Given the description of an element on the screen output the (x, y) to click on. 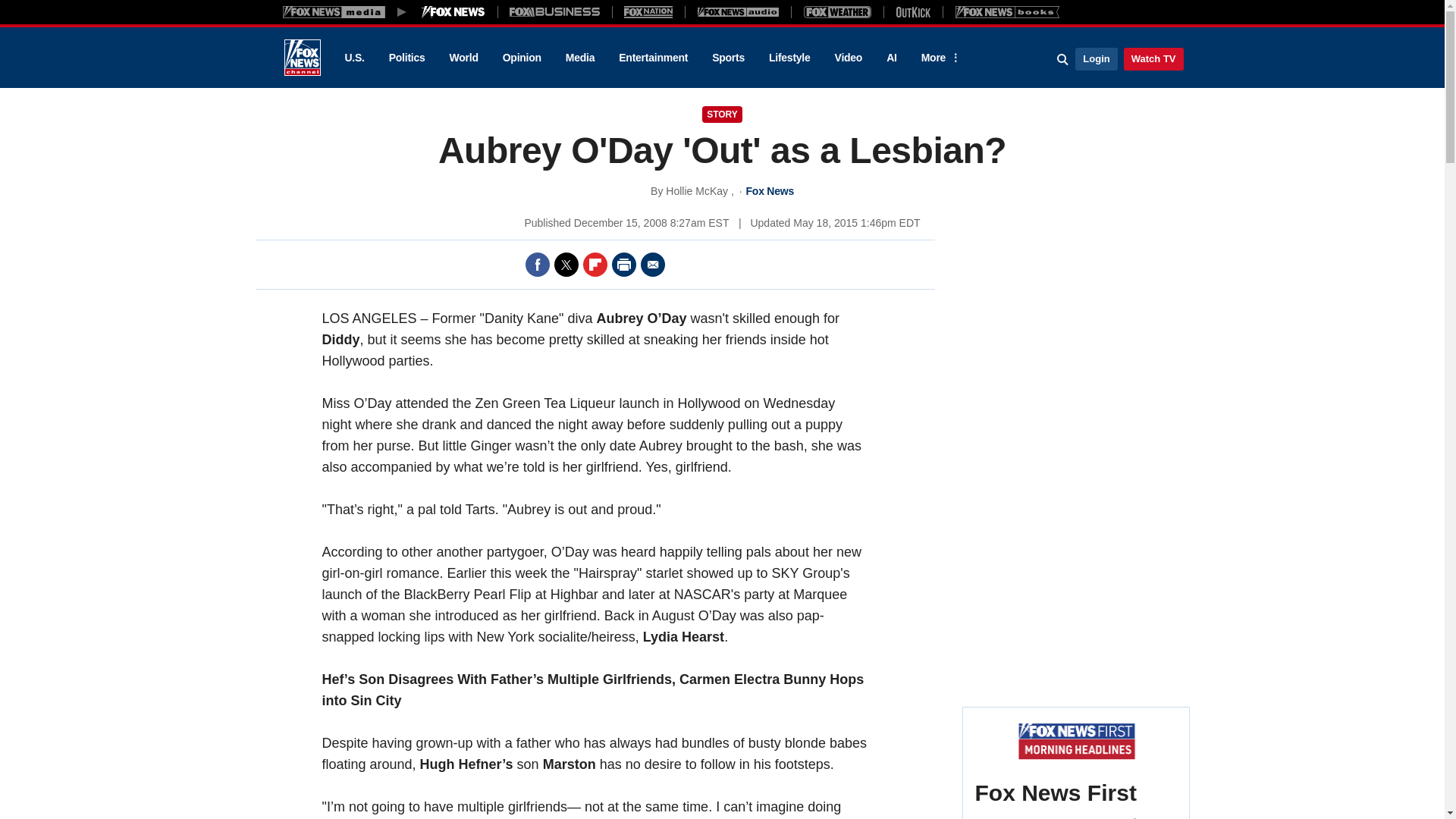
AI (891, 57)
Watch TV (1153, 58)
Fox Weather (836, 11)
Fox News (301, 57)
World (464, 57)
Fox News Audio (737, 11)
U.S. (353, 57)
Books (1007, 11)
More (938, 57)
Login (1095, 58)
